Given the description of an element on the screen output the (x, y) to click on. 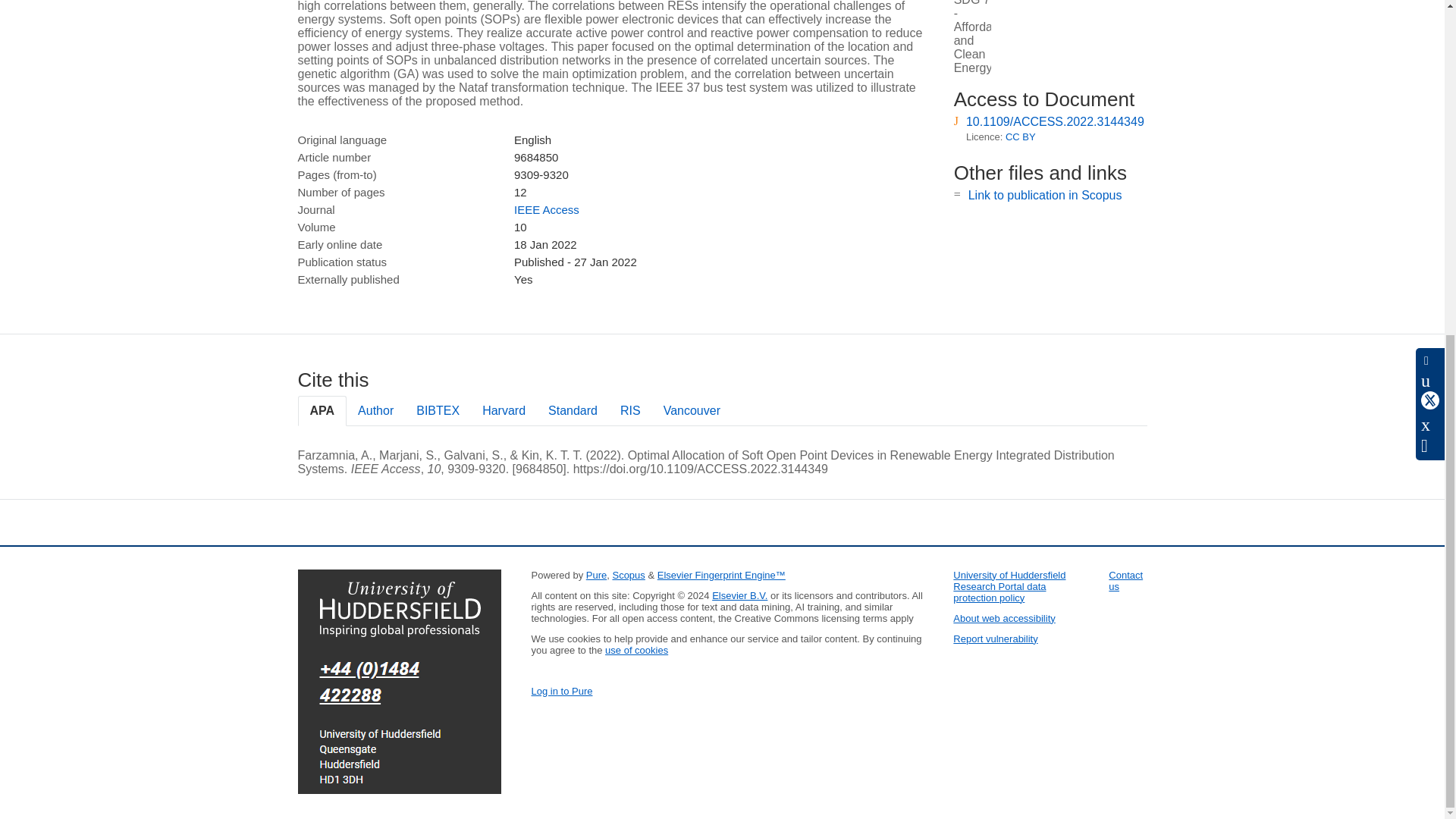
Scopus (628, 574)
CC BY (1020, 136)
Report vulnerability (994, 638)
Contact us (1125, 580)
Log in to Pure (561, 690)
use of cookies (636, 650)
Elsevier B.V. (739, 595)
Link to publication in Scopus (1045, 195)
About web accessibility (1003, 618)
IEEE Access (546, 209)
Pure (596, 574)
